Given the description of an element on the screen output the (x, y) to click on. 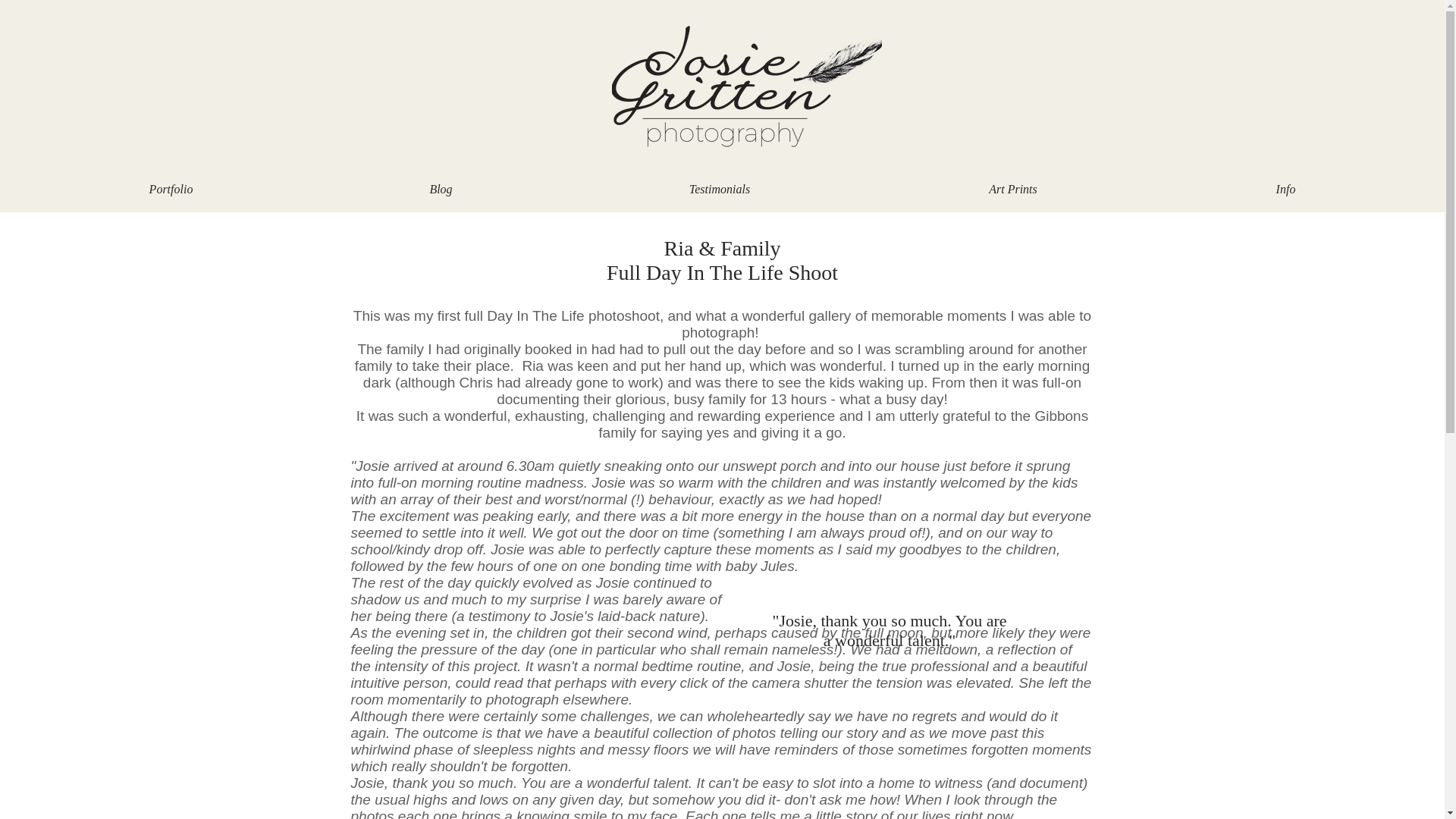
Blog (441, 188)
Testimonials (719, 188)
Art Prints (1012, 188)
